Given the description of an element on the screen output the (x, y) to click on. 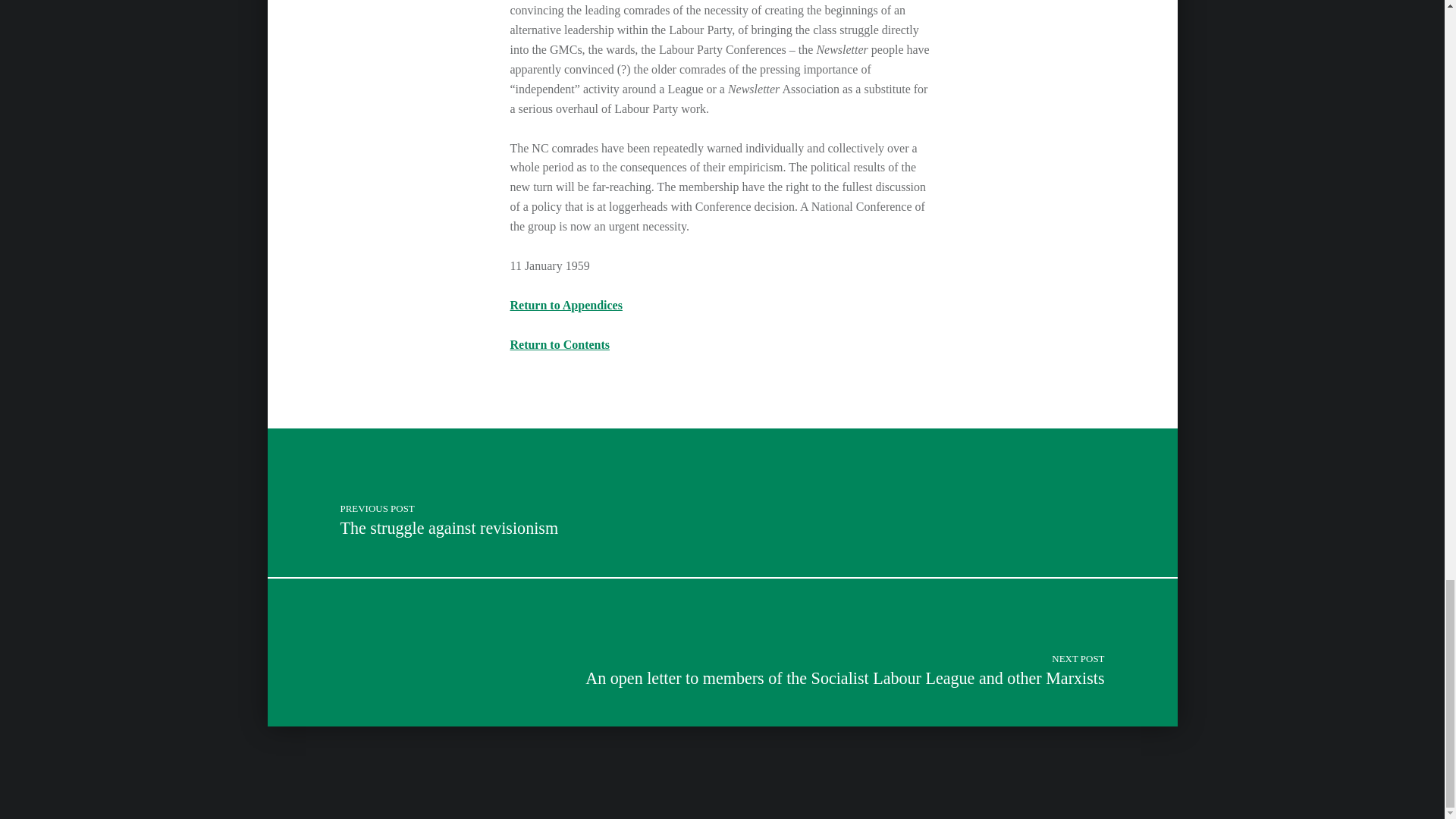
Skip back to main navigation (565, 305)
